Given the description of an element on the screen output the (x, y) to click on. 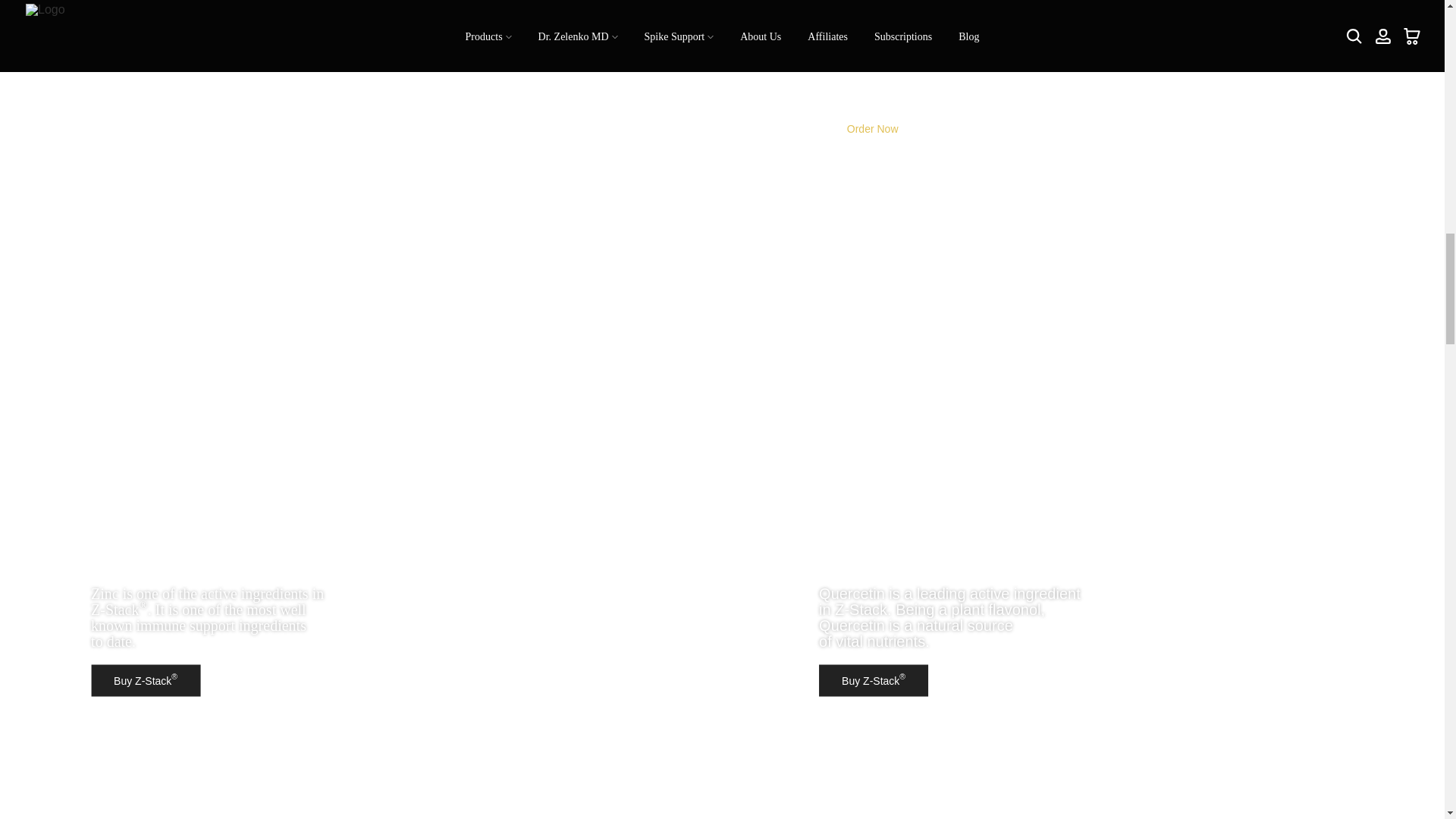
Order Now (872, 128)
